Given the description of an element on the screen output the (x, y) to click on. 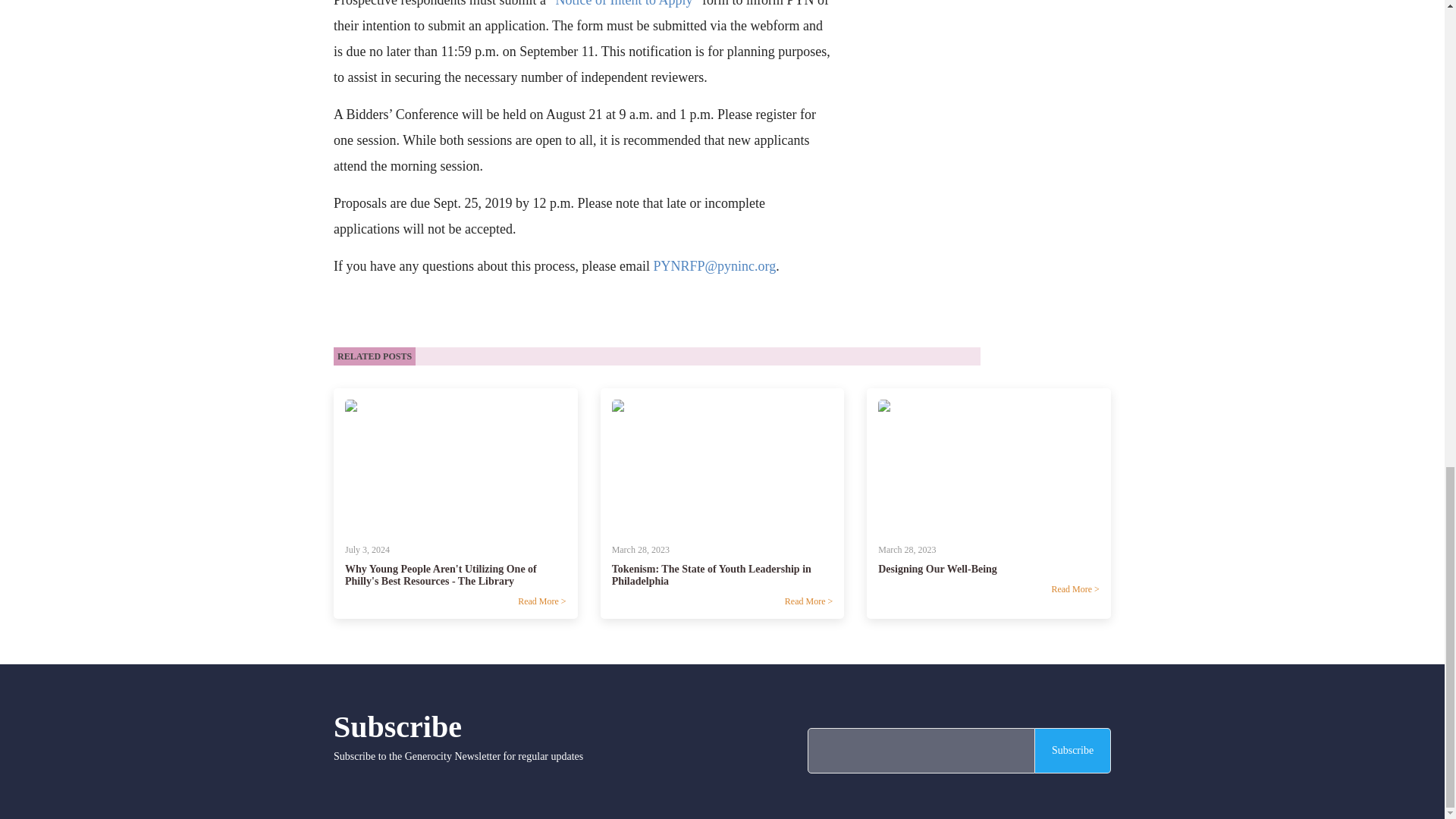
Subscribe (1072, 750)
